Given the description of an element on the screen output the (x, y) to click on. 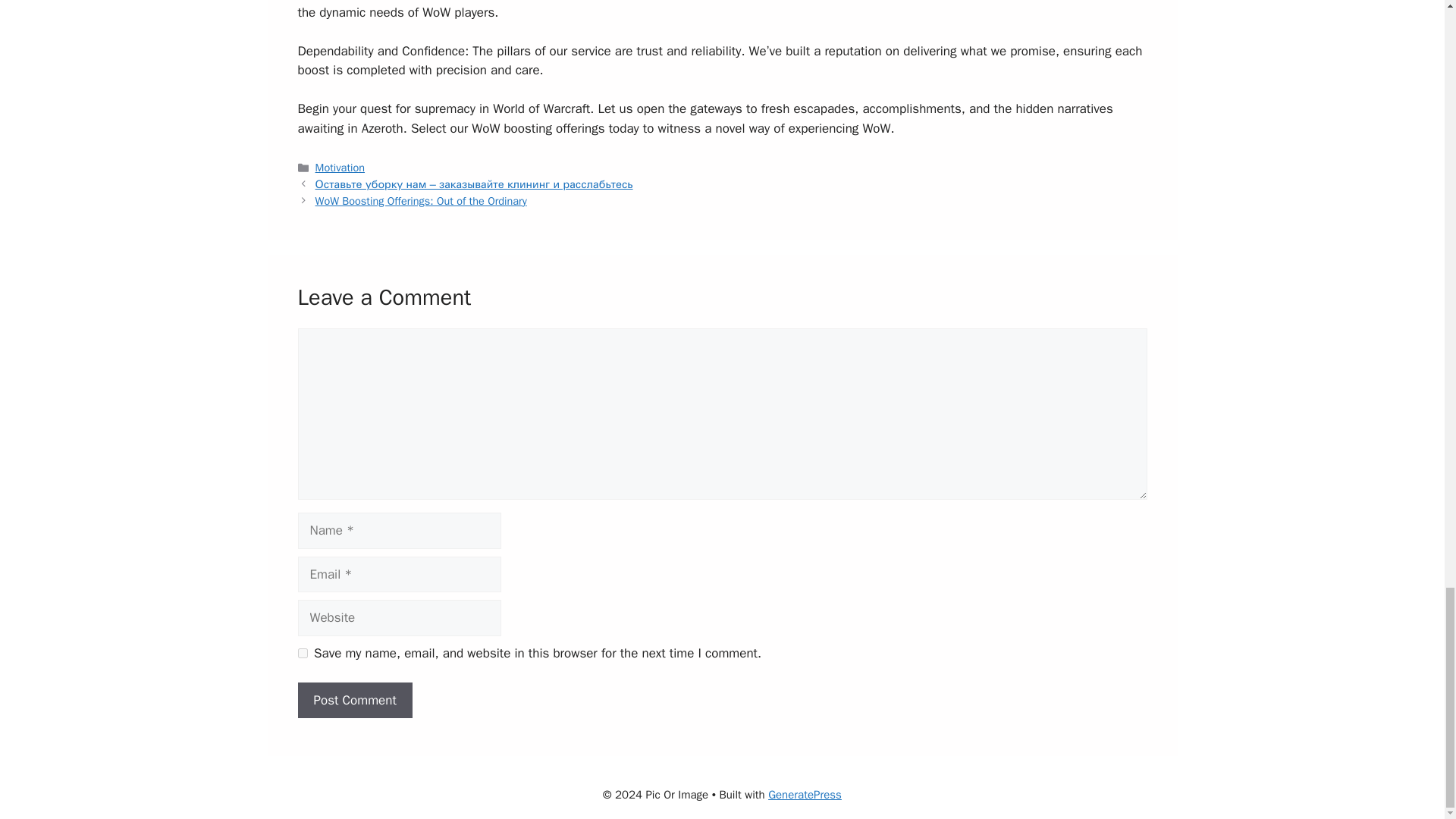
WoW Boosting Offerings: Out of the Ordinary (421, 201)
Post Comment (354, 700)
GeneratePress (804, 794)
Post Comment (354, 700)
Motivation (340, 167)
yes (302, 653)
